Given the description of an element on the screen output the (x, y) to click on. 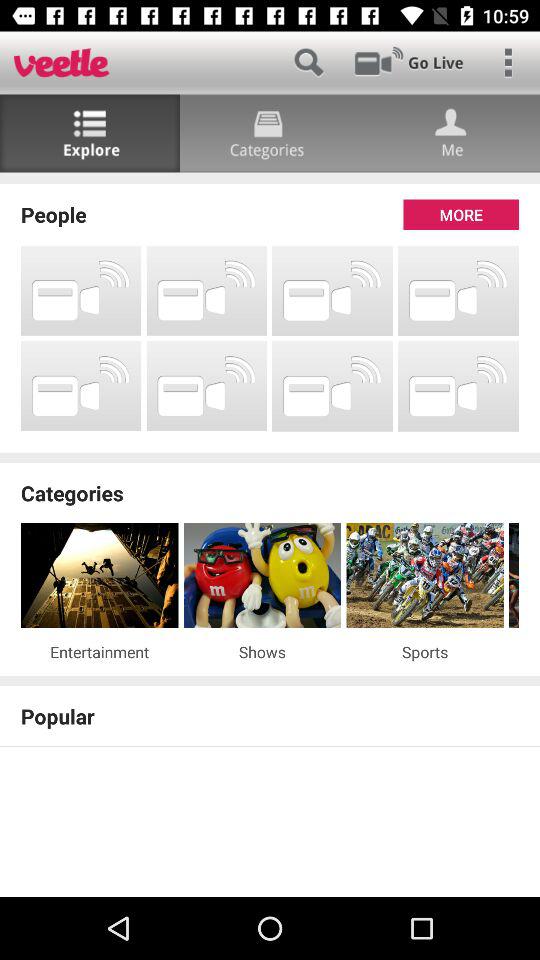
launch the app to the left of shows item (99, 651)
